Given the description of an element on the screen output the (x, y) to click on. 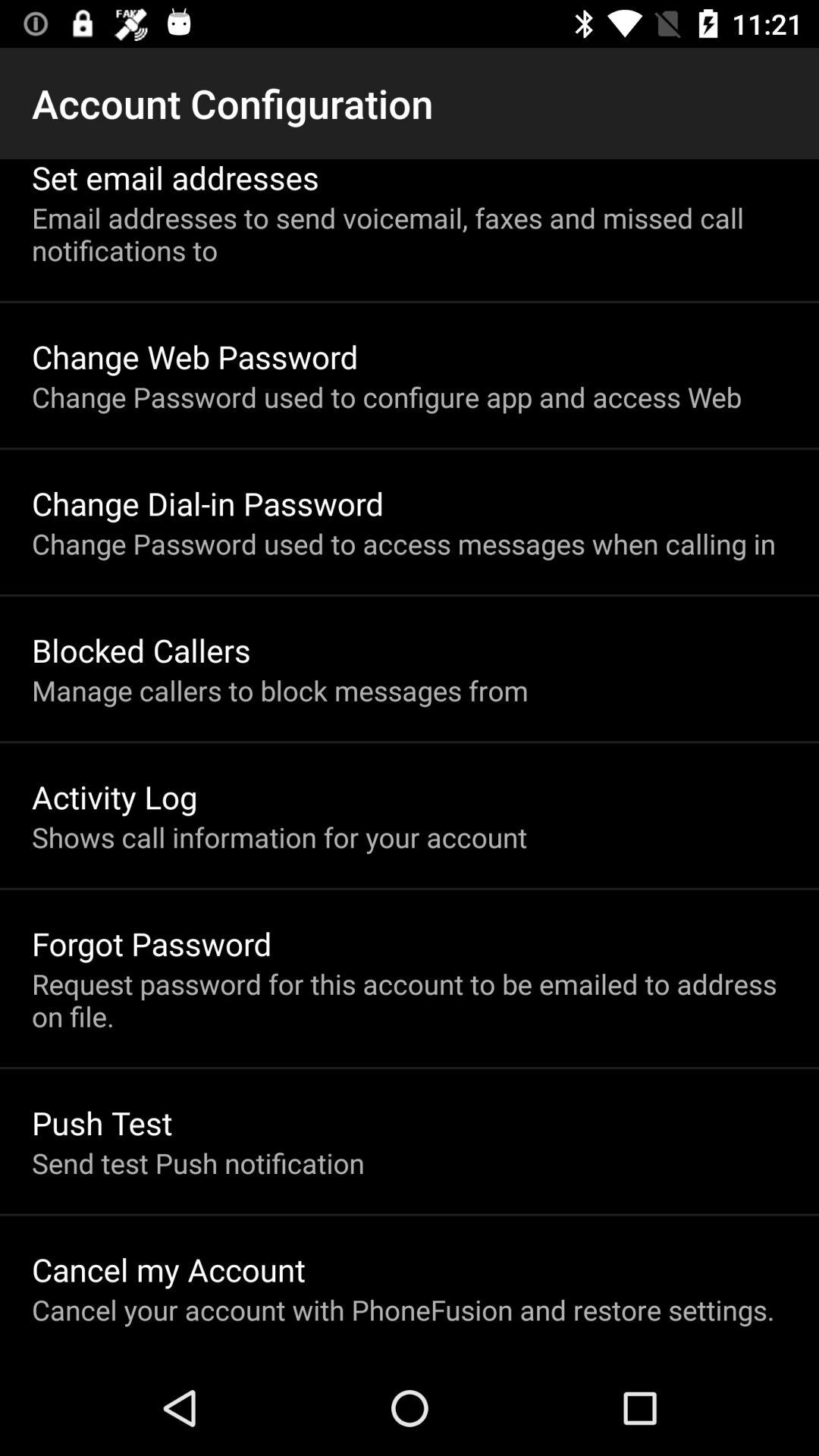
tap icon below change password used item (140, 649)
